Given the description of an element on the screen output the (x, y) to click on. 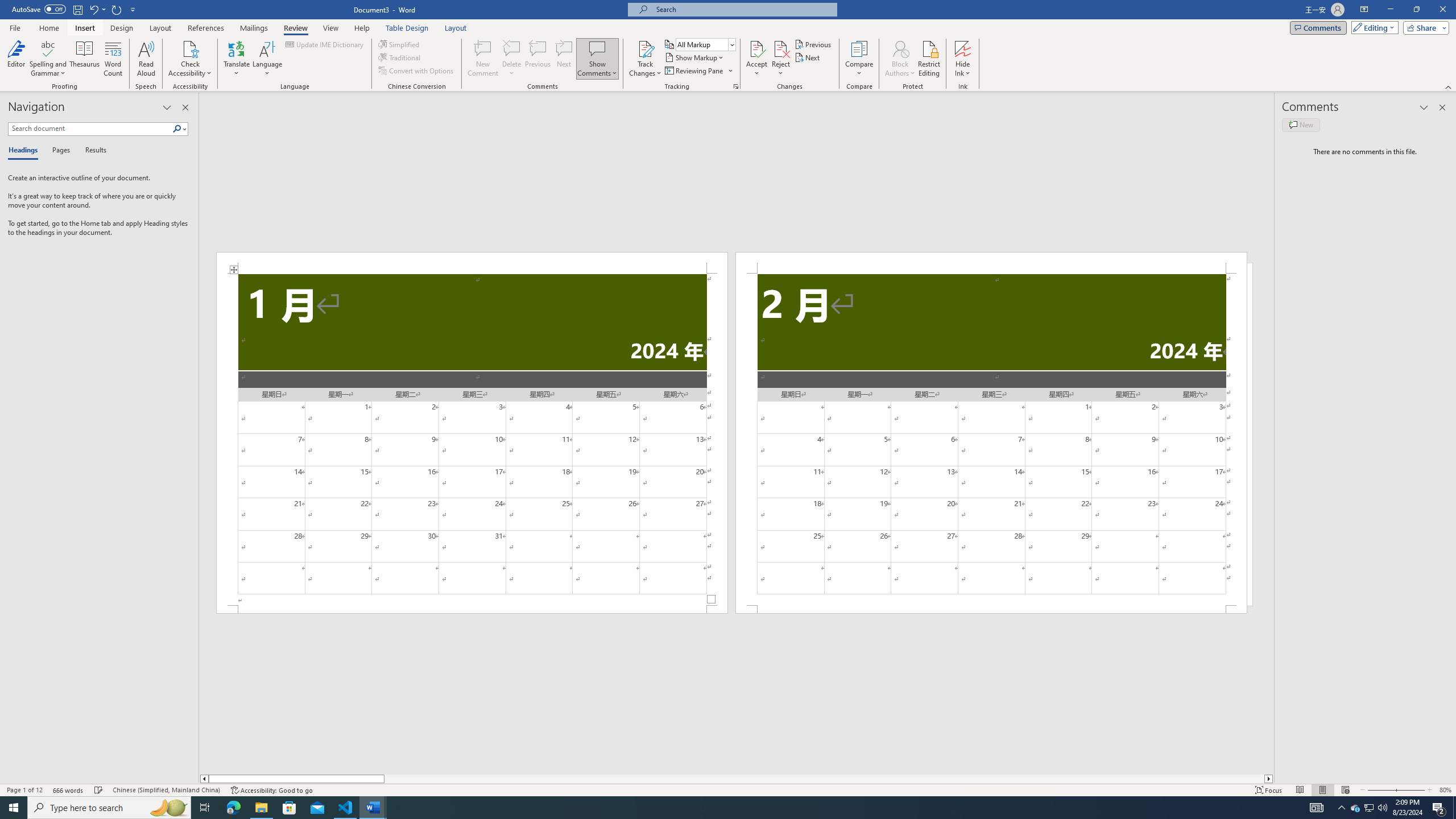
Show Comments (597, 58)
Block Authors (900, 58)
Reviewing Pane (698, 69)
Spelling and Grammar (48, 48)
Delete (511, 48)
Check Accessibility (189, 48)
Page 2 content (991, 439)
New Comment (482, 58)
